Given the description of an element on the screen output the (x, y) to click on. 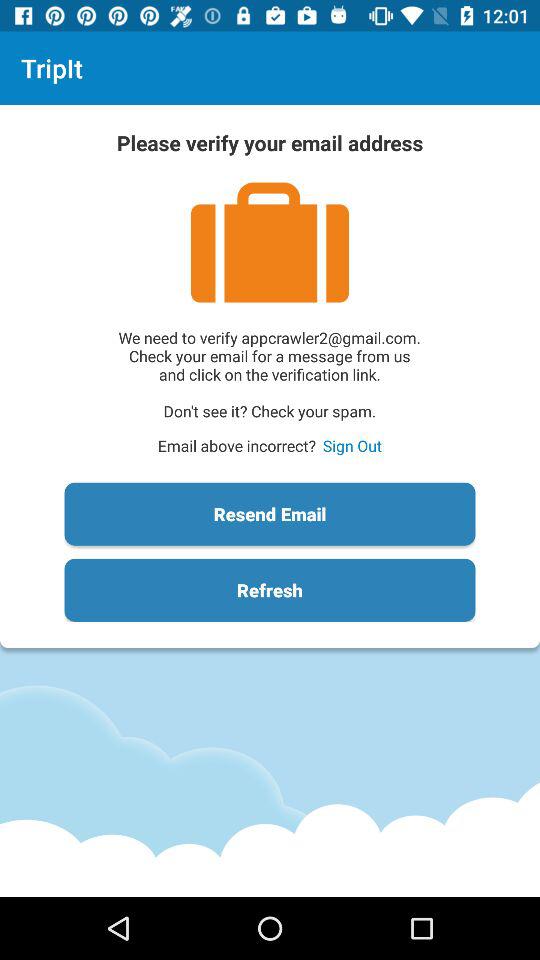
press the sign out (352, 445)
